Given the description of an element on the screen output the (x, y) to click on. 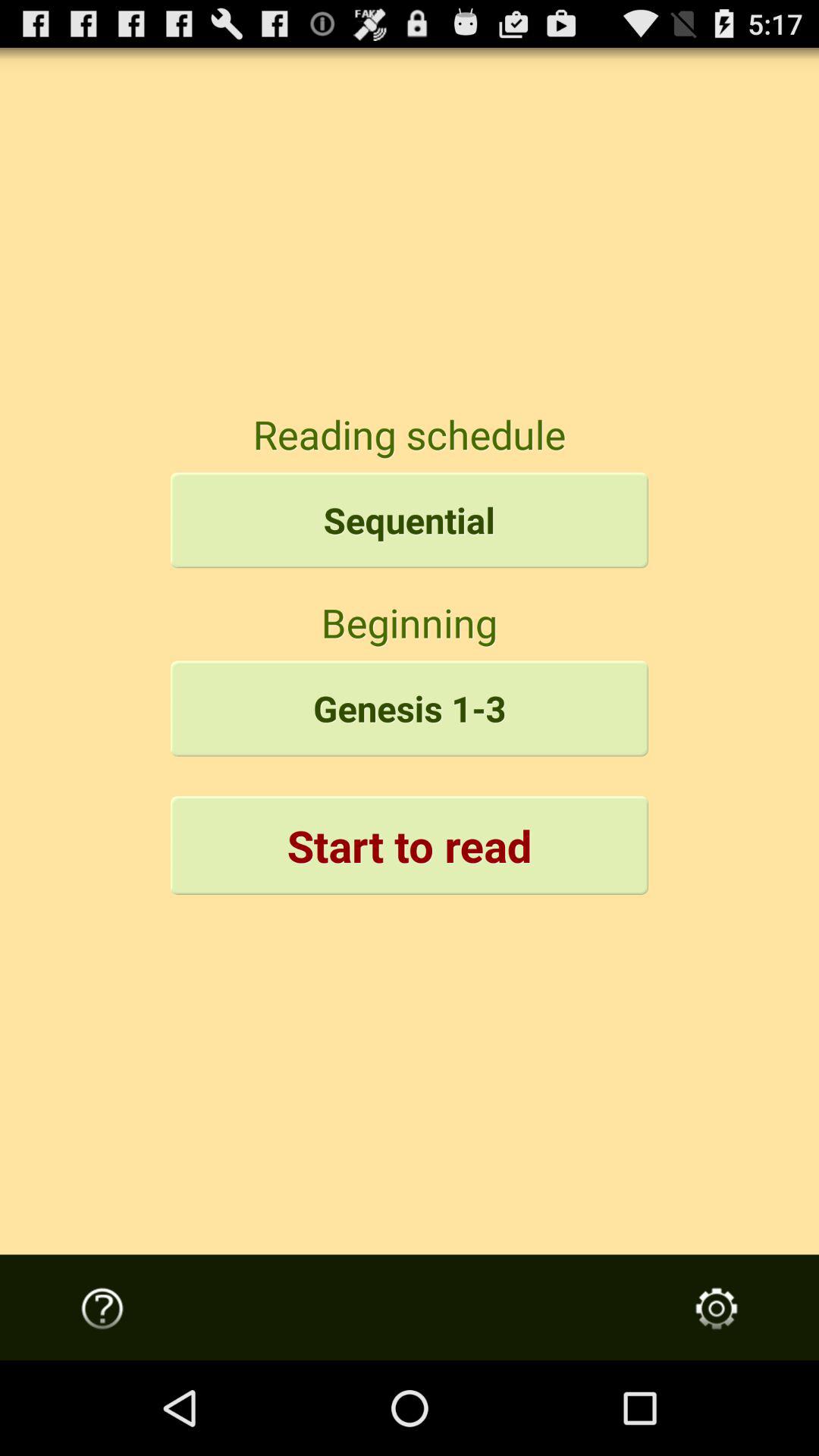
press icon at the bottom right corner (716, 1308)
